Given the description of an element on the screen output the (x, y) to click on. 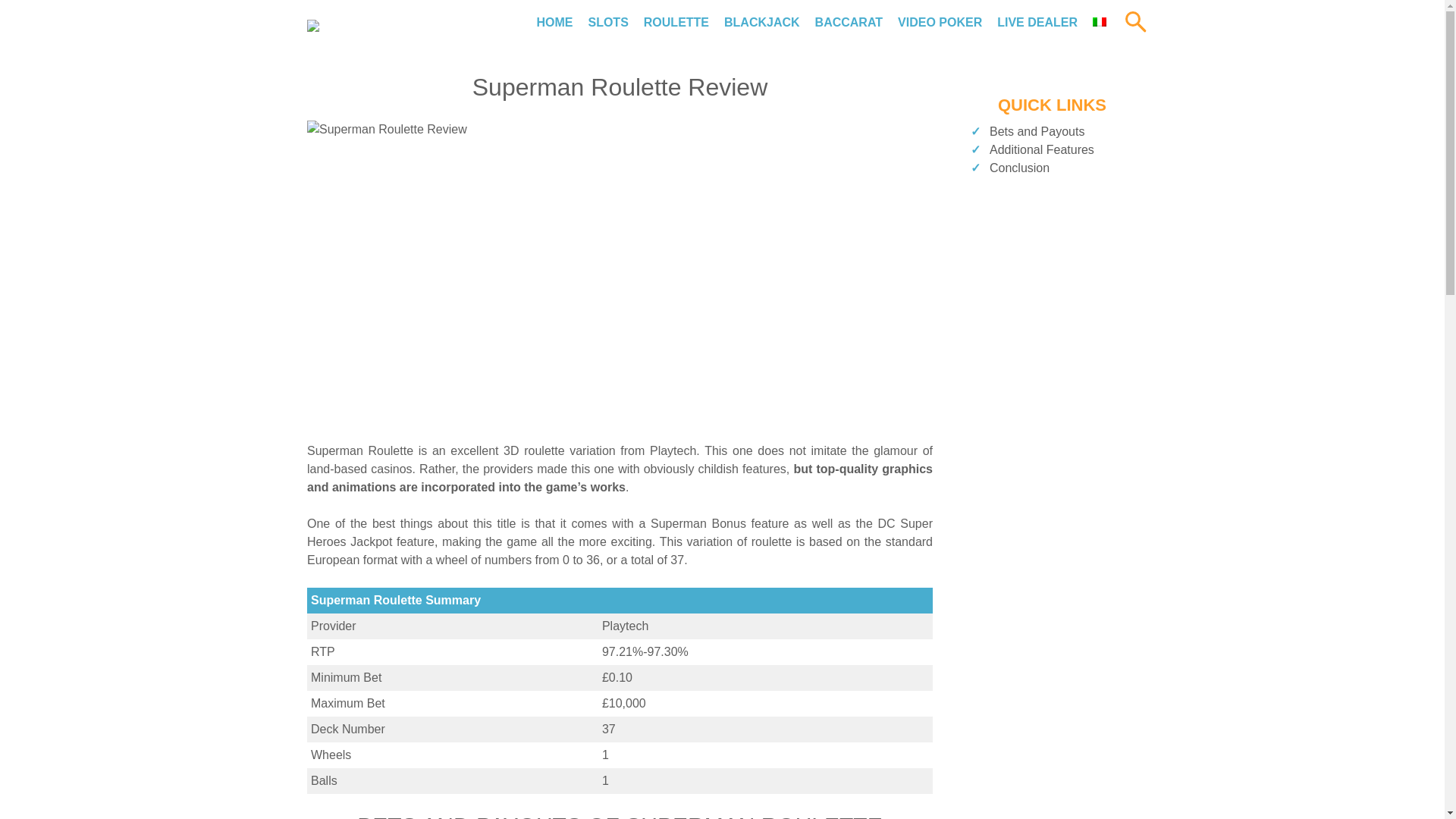
Additional Features (1042, 149)
LIVE DEALER (1037, 21)
VIDEO POKER (939, 21)
BACCARAT (848, 21)
Conclusion (1019, 167)
ROULETTE (676, 21)
Search (1055, 92)
SLOTS (607, 21)
BLACKJACK (761, 21)
Bets and Payouts (1037, 131)
HOME (553, 21)
